Given the description of an element on the screen output the (x, y) to click on. 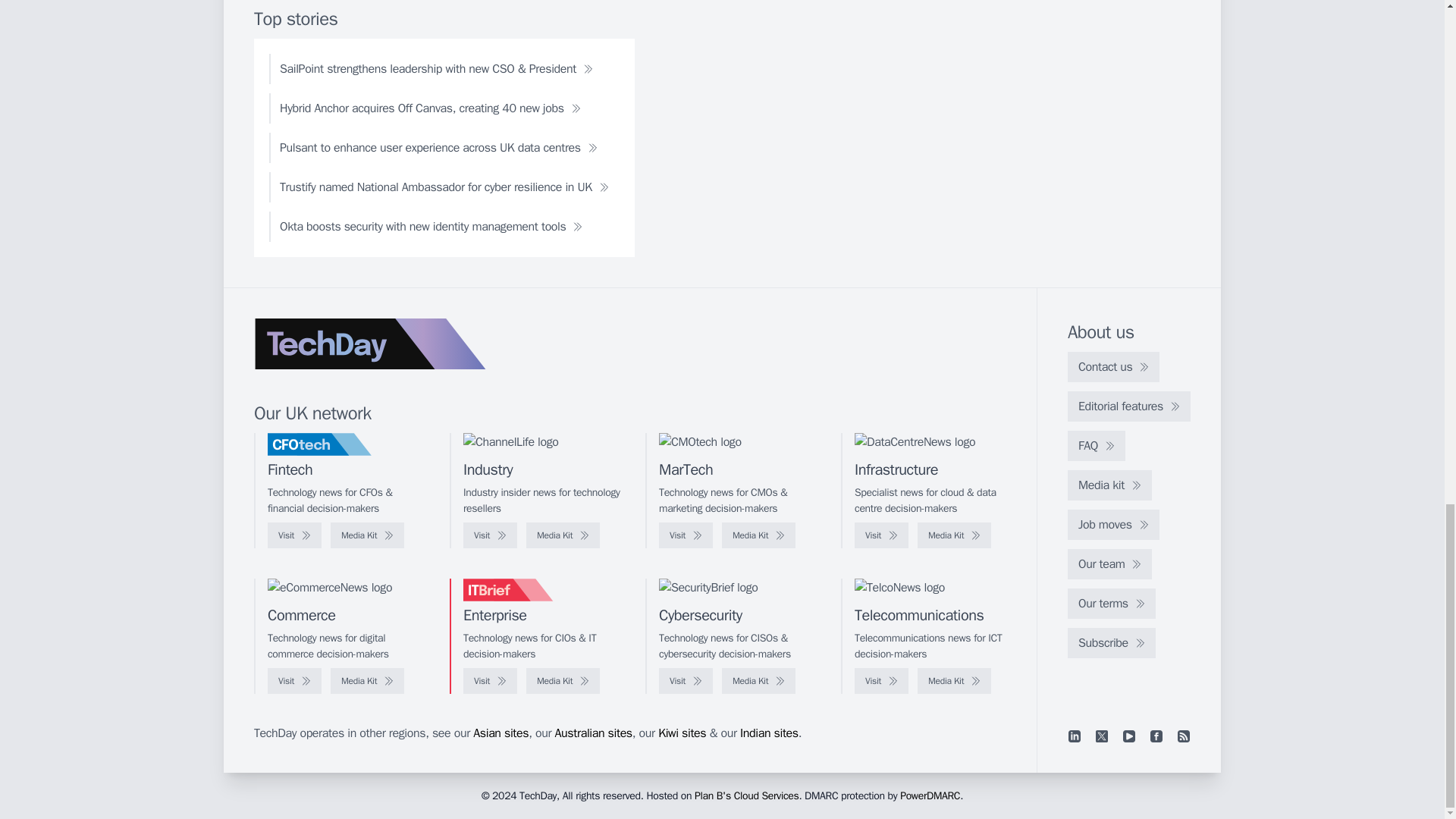
Media Kit (954, 534)
Visit (881, 534)
Visit (489, 534)
Media Kit (367, 534)
Pulsant to enhance user experience across UK data centres (438, 147)
Visit (686, 534)
Okta boosts security with new identity management tools (430, 226)
Hybrid Anchor acquires Off Canvas, creating 40 new jobs (430, 108)
Media Kit (758, 534)
